Given the description of an element on the screen output the (x, y) to click on. 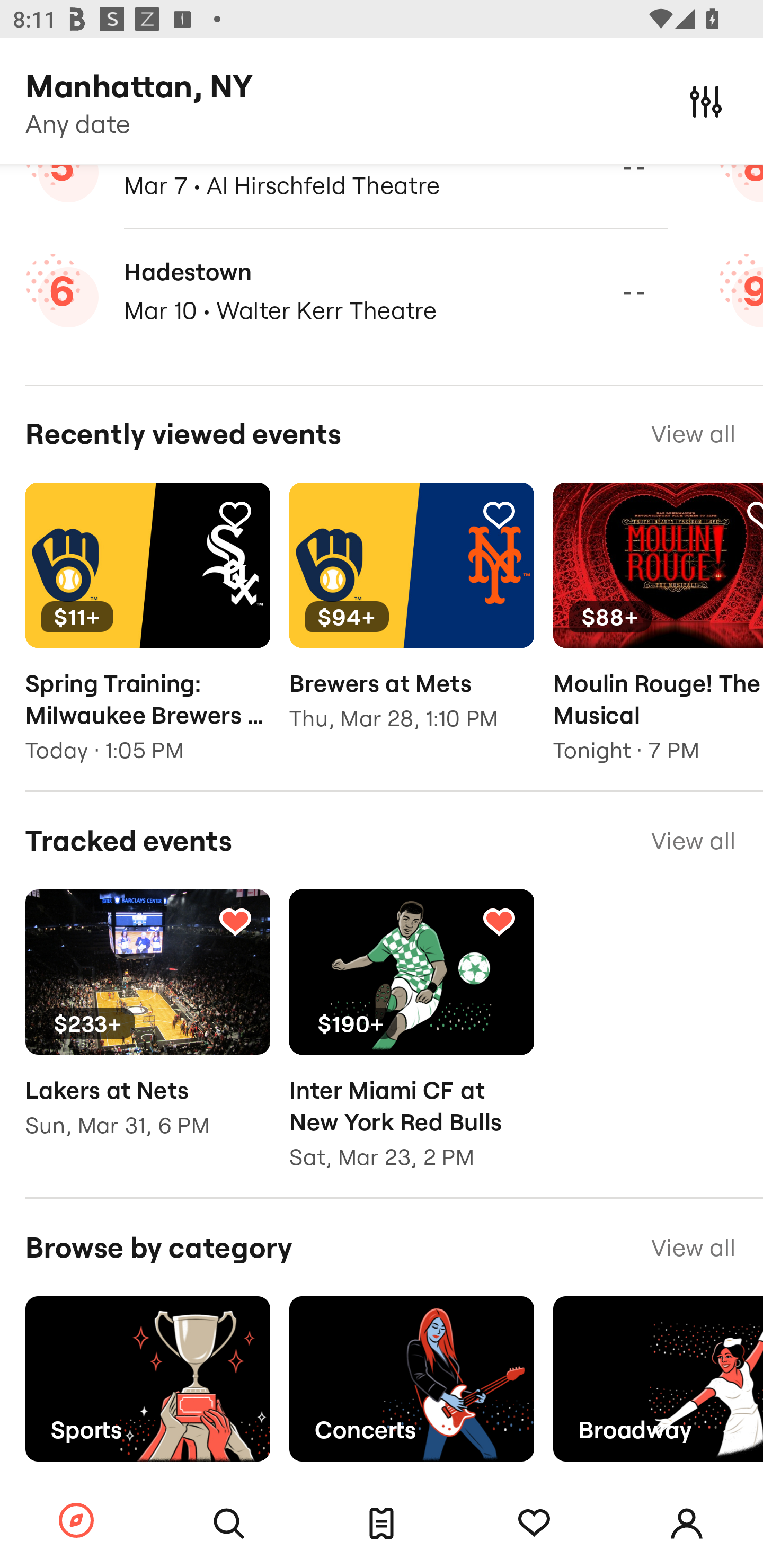
Filters (705, 100)
View all (693, 433)
Tracking $94+ Brewers at Mets Thu, Mar 28, 1:10 PM (411, 619)
Tracking (234, 514)
Tracking (498, 514)
Tracking (753, 514)
View all (693, 840)
Tracking $233+ Lakers at Nets Sun, Mar 31, 6 PM (147, 1027)
Tracking (234, 920)
Tracking (498, 920)
View all (693, 1247)
Sports (147, 1378)
Concerts (411, 1378)
Broadway (658, 1378)
Browse (76, 1521)
Search (228, 1523)
Tickets (381, 1523)
Tracking (533, 1523)
Account (686, 1523)
